Given the description of an element on the screen output the (x, y) to click on. 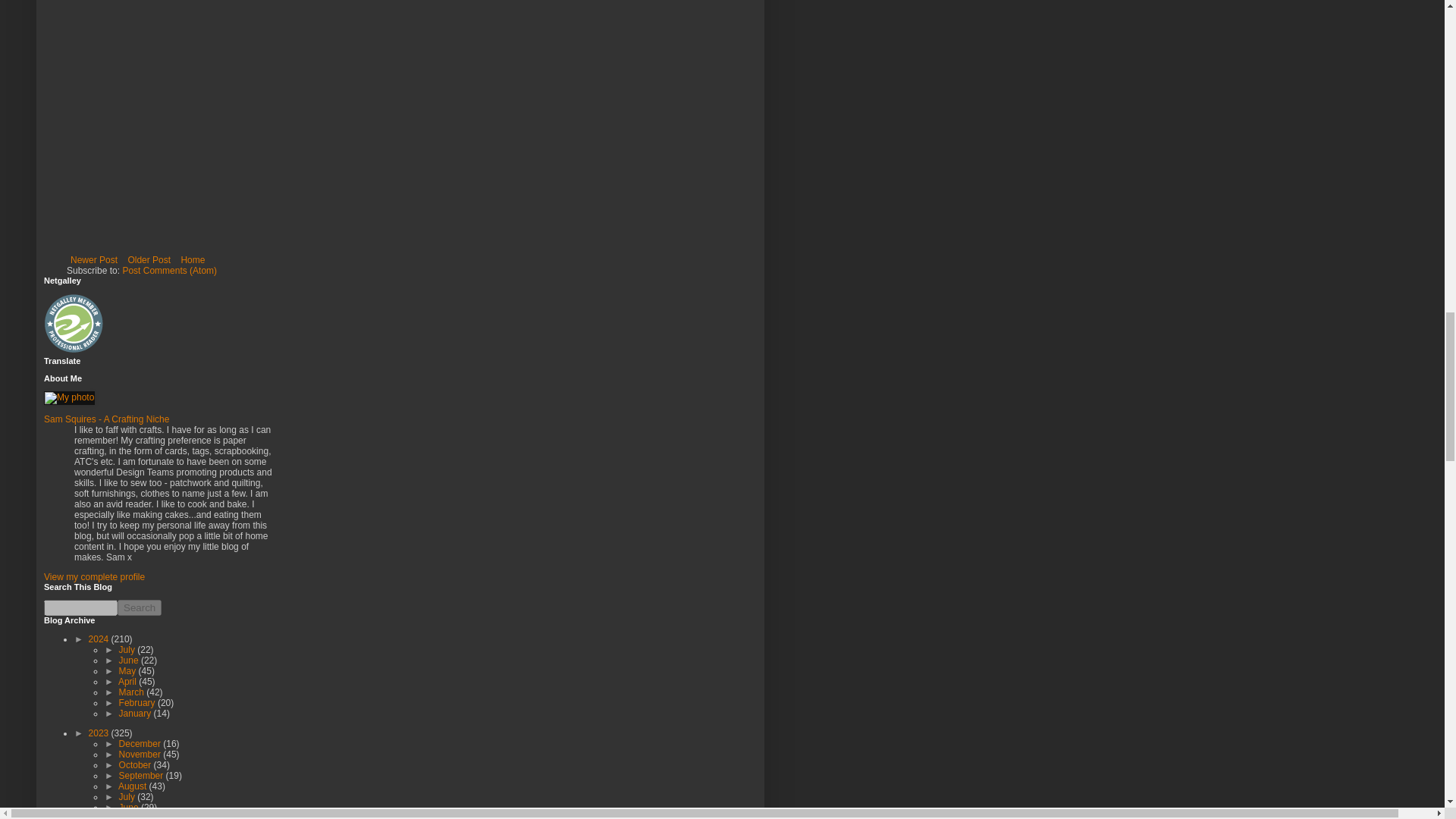
Newer Post (93, 259)
Professional Reader (73, 323)
search (139, 607)
Search (139, 607)
Search (139, 607)
search (80, 607)
Older Post (148, 259)
